Given the description of an element on the screen output the (x, y) to click on. 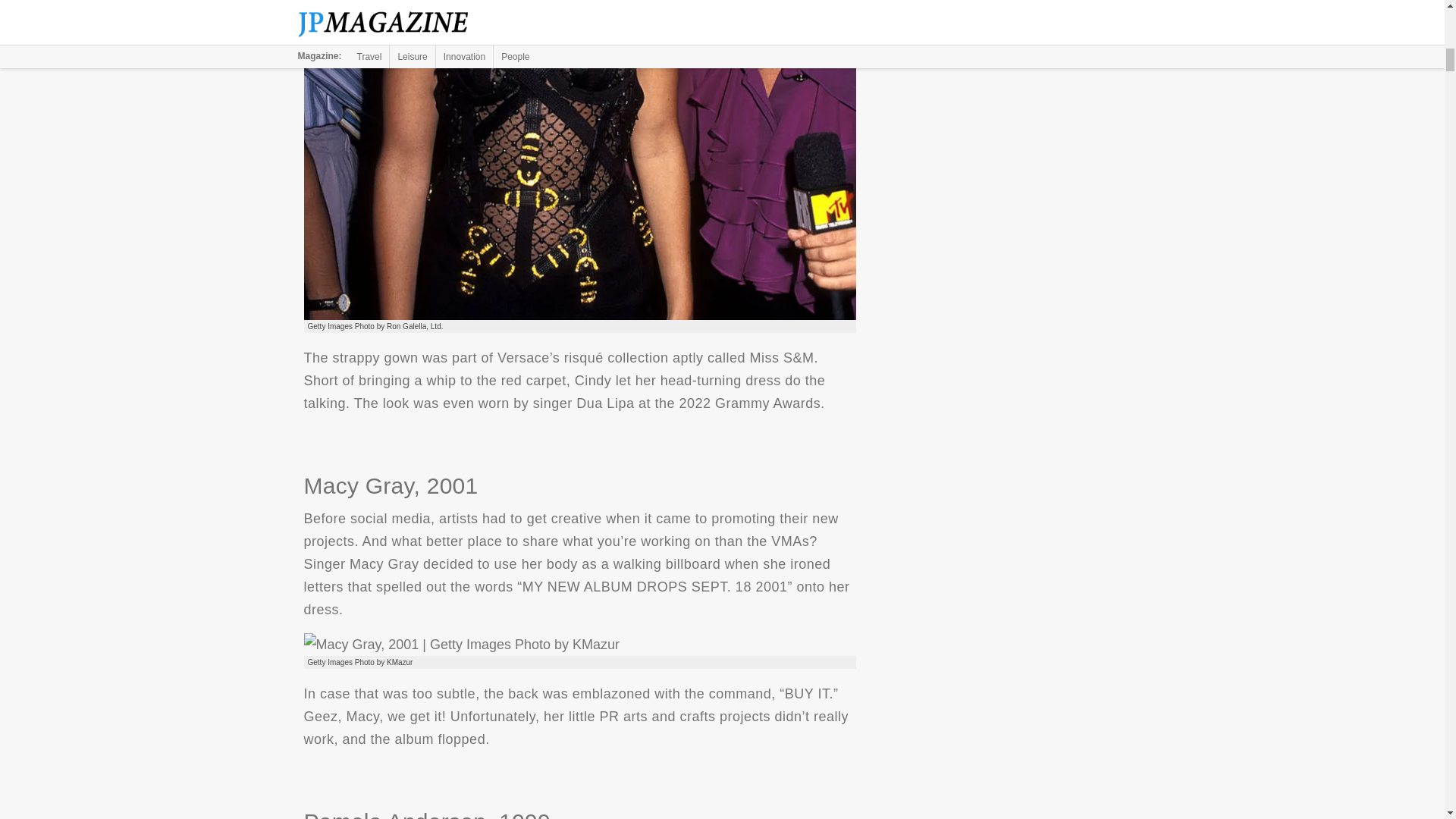
Macy Gray, 2001 (461, 644)
